Given the description of an element on the screen output the (x, y) to click on. 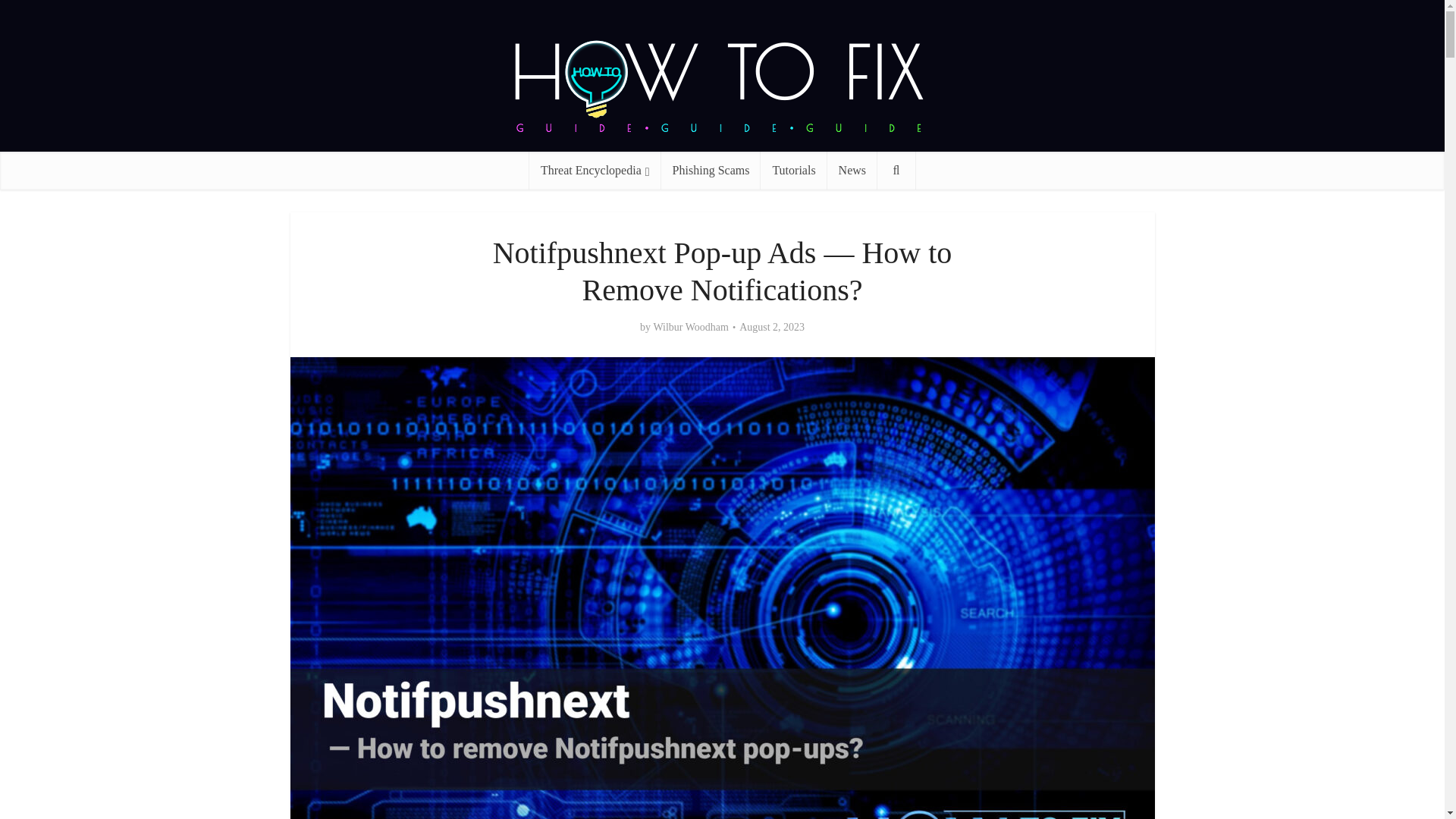
Tutorials (793, 170)
Phishing Scams (711, 170)
Threat Encyclopedia (595, 170)
Wilbur Woodham (690, 327)
News (852, 170)
